Given the description of an element on the screen output the (x, y) to click on. 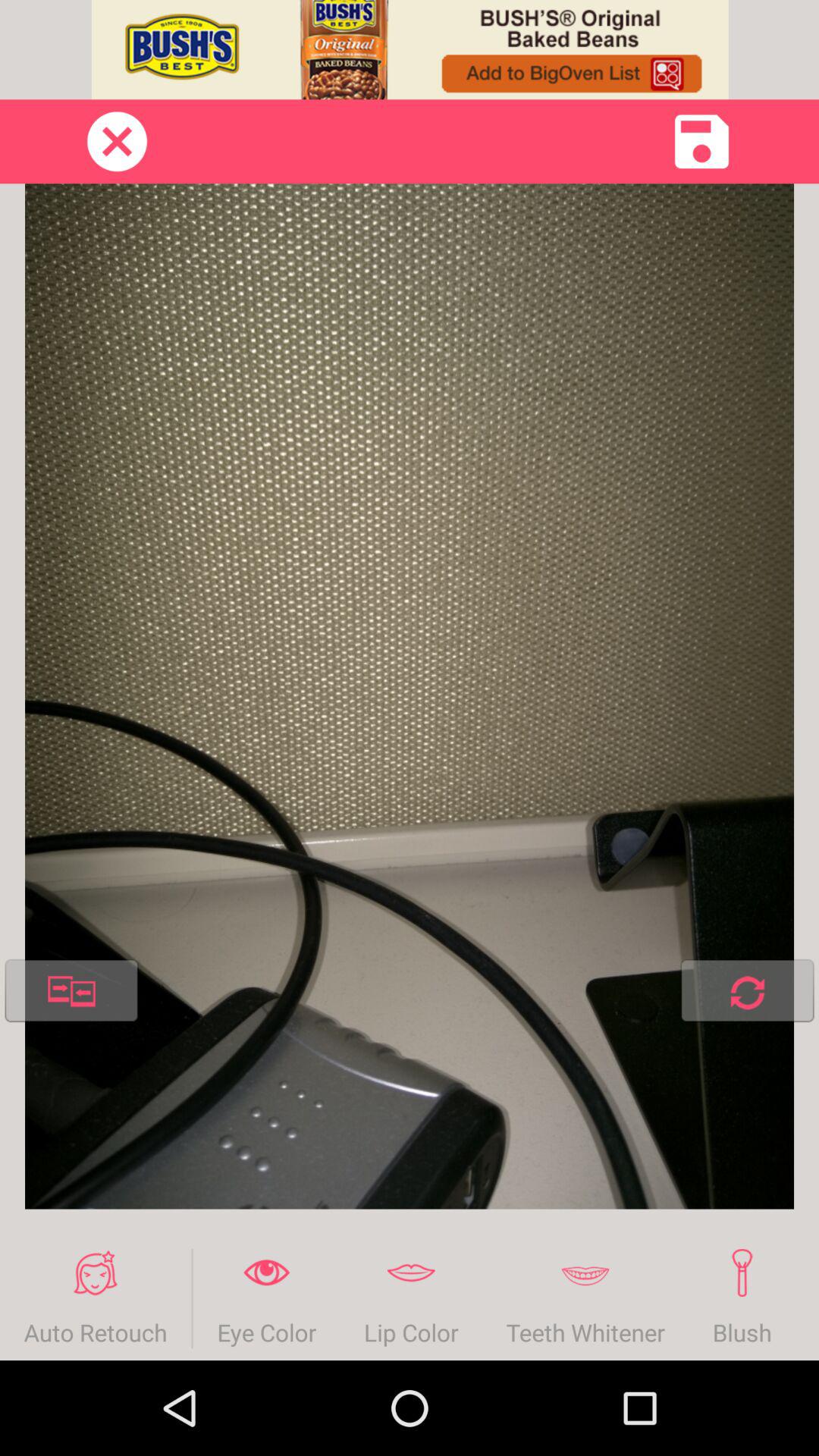
turn on the item next to blush (807, 1298)
